Given the description of an element on the screen output the (x, y) to click on. 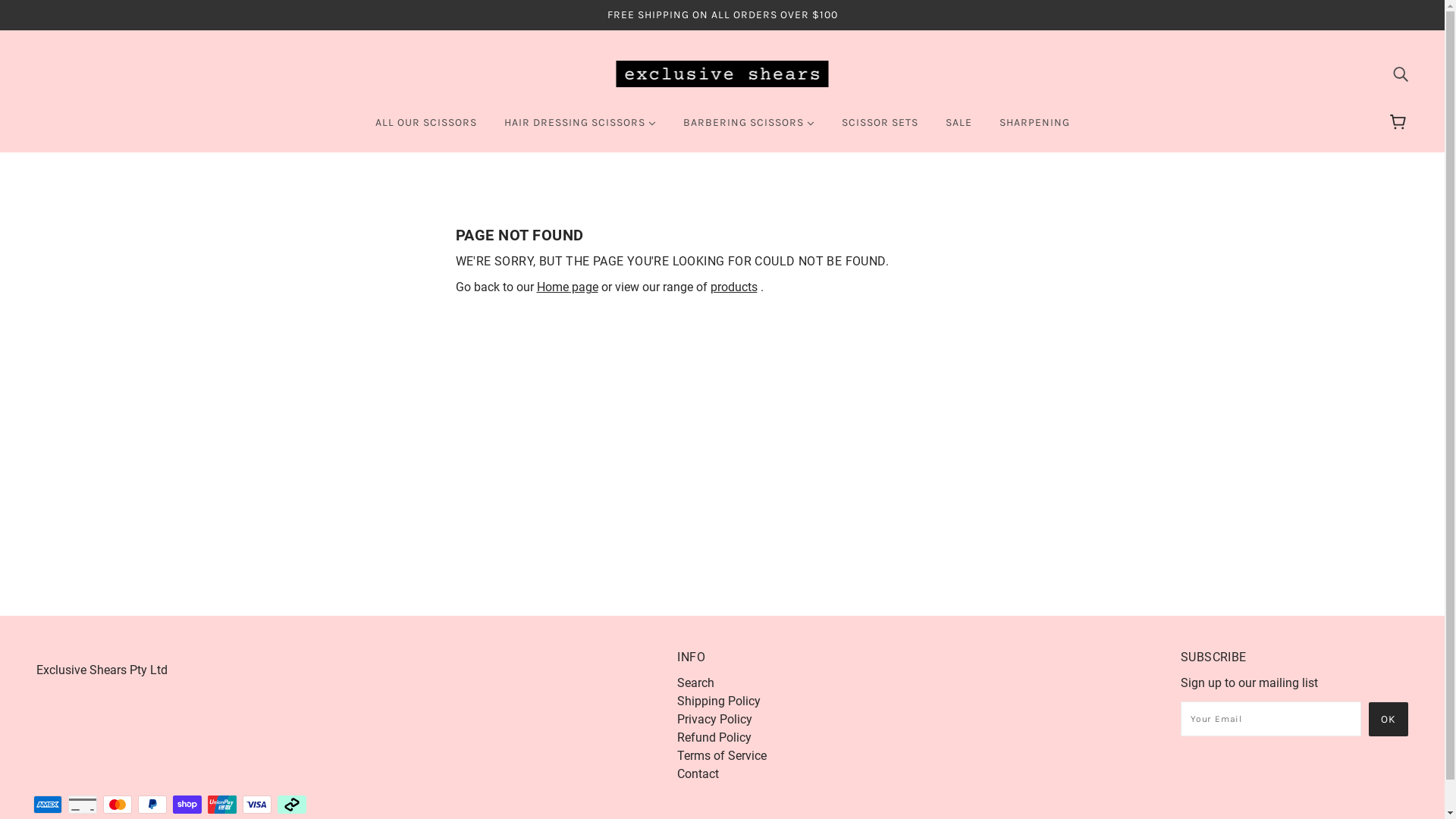
Ok Element type: text (1388, 719)
HAIR DRESSING SCISSORS Element type: text (579, 128)
Contact Element type: text (697, 773)
Refund Policy Element type: text (714, 737)
SALE Element type: text (957, 128)
Shipping Policy Element type: text (718, 700)
products Element type: text (732, 286)
Terms of Service Element type: text (721, 755)
ALL OUR SCISSORS Element type: text (425, 128)
BARBERING SCISSORS Element type: text (747, 128)
SHARPENING Element type: text (1034, 128)
Search Element type: text (695, 682)
Exclusive Shears Element type: hover (721, 72)
Privacy Policy Element type: text (714, 719)
SCISSOR SETS Element type: text (879, 128)
Home page Element type: text (567, 286)
